Given the description of an element on the screen output the (x, y) to click on. 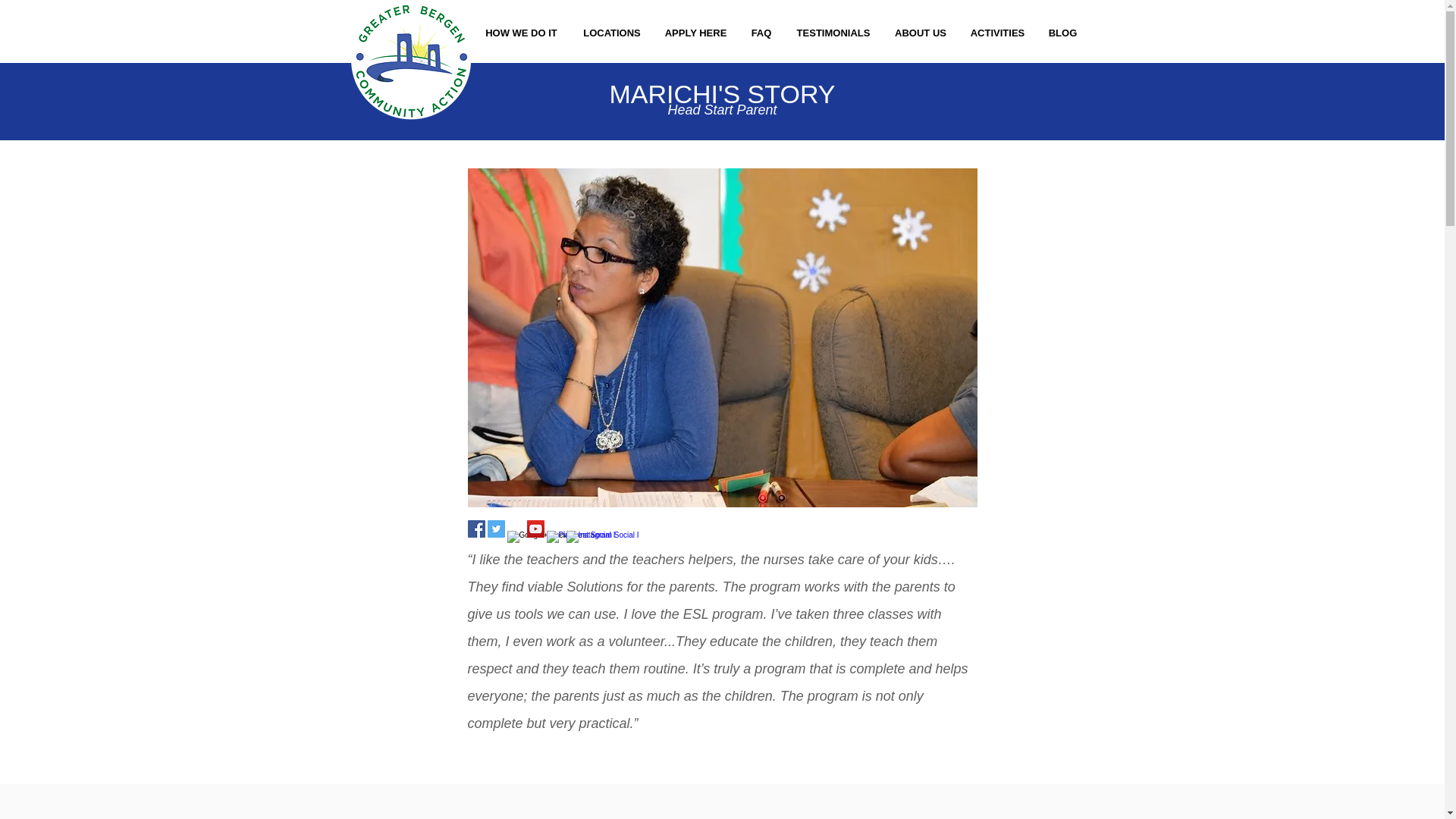
TESTIMONIALS (833, 32)
ACTIVITIES (996, 32)
APPLY HERE (695, 32)
HOW WE DO IT (520, 32)
LOCATIONS (611, 32)
ABOUT US (920, 32)
